Given the description of an element on the screen output the (x, y) to click on. 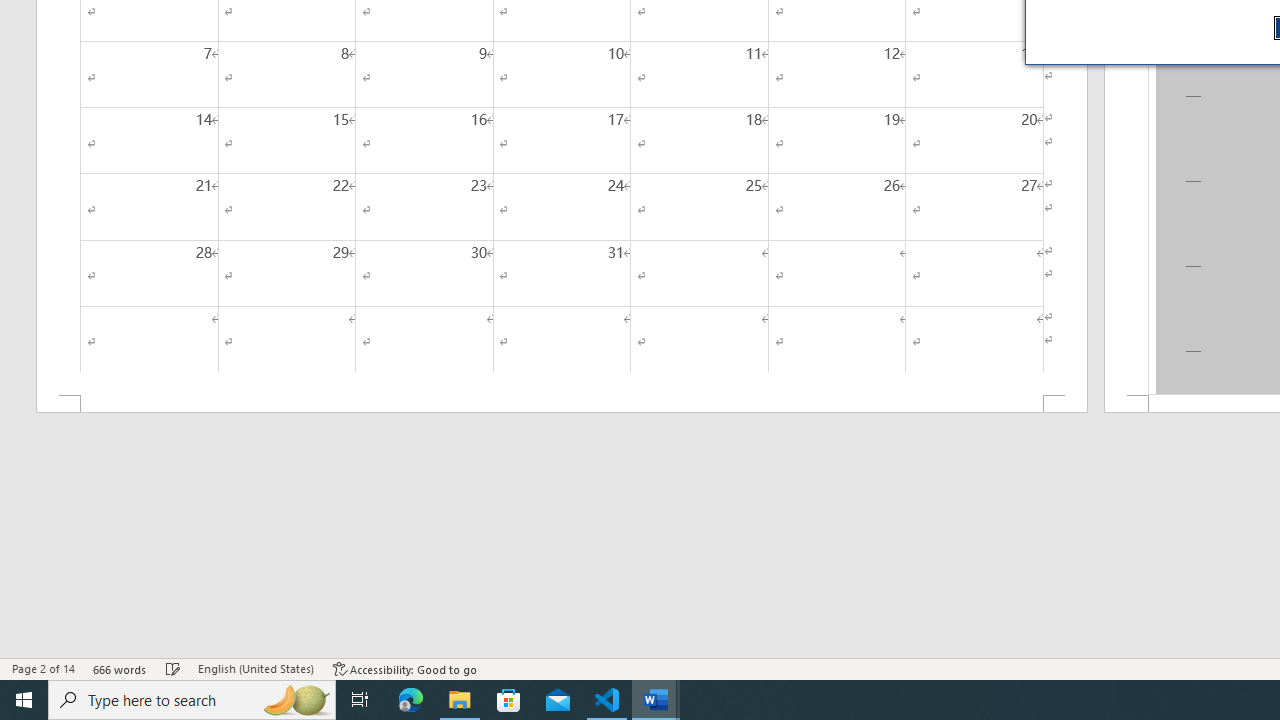
File Explorer - 1 running window (460, 699)
Page Number Page 2 of 14 (43, 668)
Spelling and Grammar Check Checking (173, 668)
Accessibility Checker Accessibility: Good to go (405, 668)
Microsoft Store (509, 699)
Start (24, 699)
Task View (359, 699)
Footer -Section 1- (561, 404)
Microsoft Edge (411, 699)
Visual Studio Code - 1 running window (607, 699)
Language English (United States) (255, 668)
Search highlights icon opens search home window (295, 699)
Word - 2 running windows (656, 699)
